Given the description of an element on the screen output the (x, y) to click on. 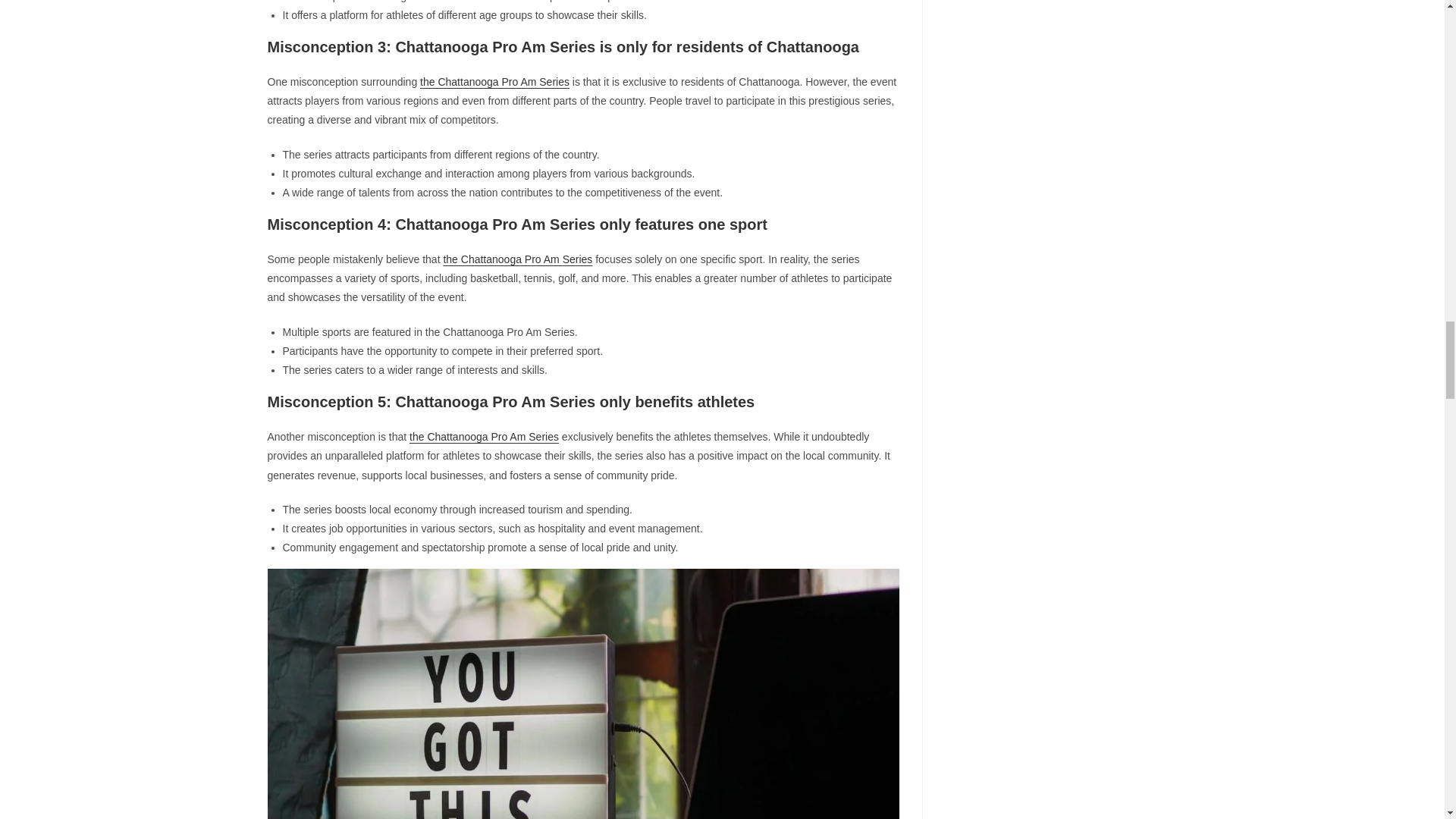
the Chattanooga Pro Am Series (484, 436)
the Chattanooga Pro Am Series (517, 259)
the Chattanooga Pro Am Series (494, 81)
